Given the description of an element on the screen output the (x, y) to click on. 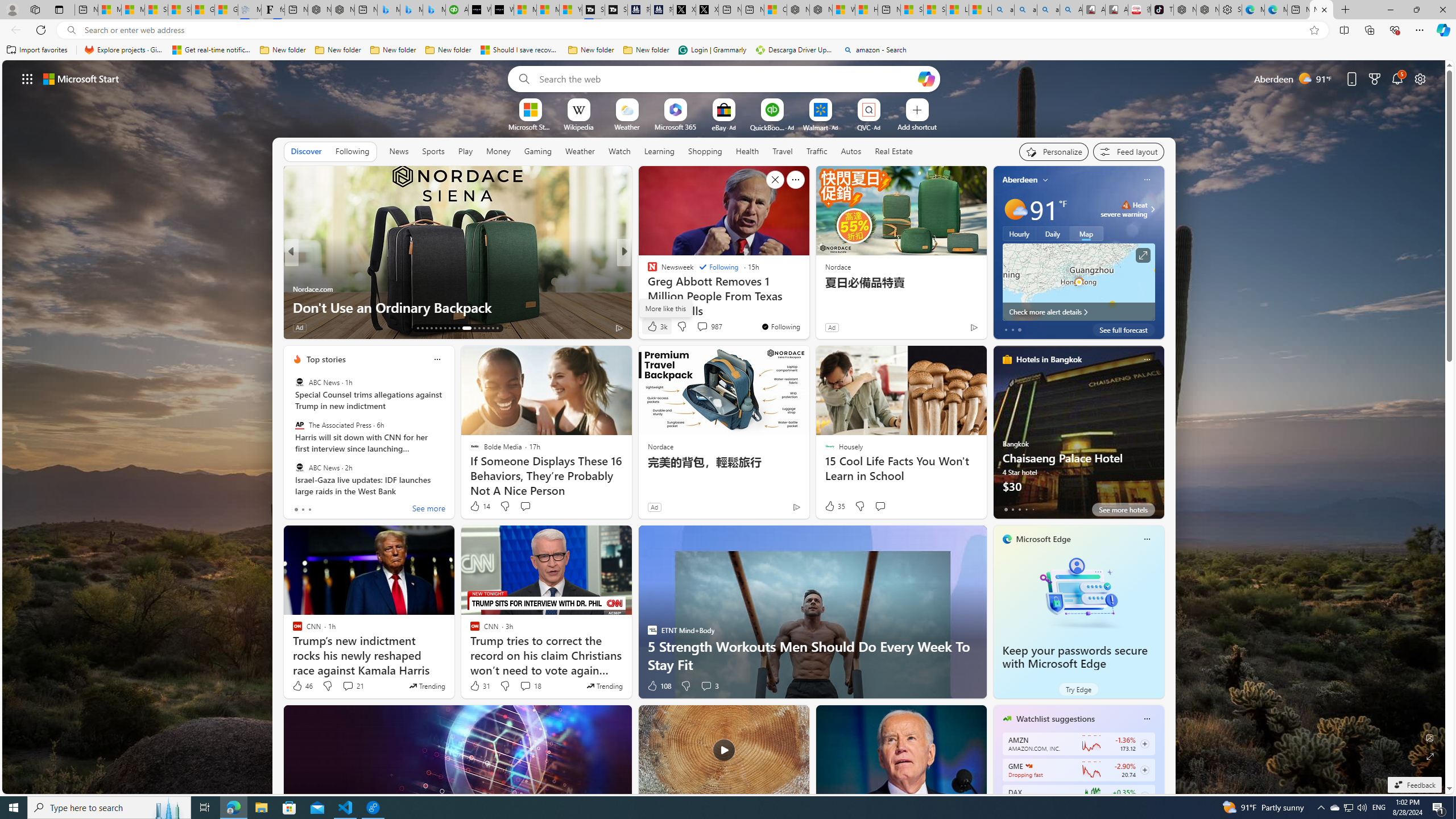
View comments 85 Comment (704, 327)
Nordace - Summer Adventures 2024 (821, 9)
Play (465, 151)
Class: control (27, 78)
Larger map  (1077, 282)
Microsoft Start Sports (525, 9)
Discover (306, 151)
The Associated Press (299, 424)
View comments 52 Comment (704, 327)
Learning (658, 151)
